Given the description of an element on the screen output the (x, y) to click on. 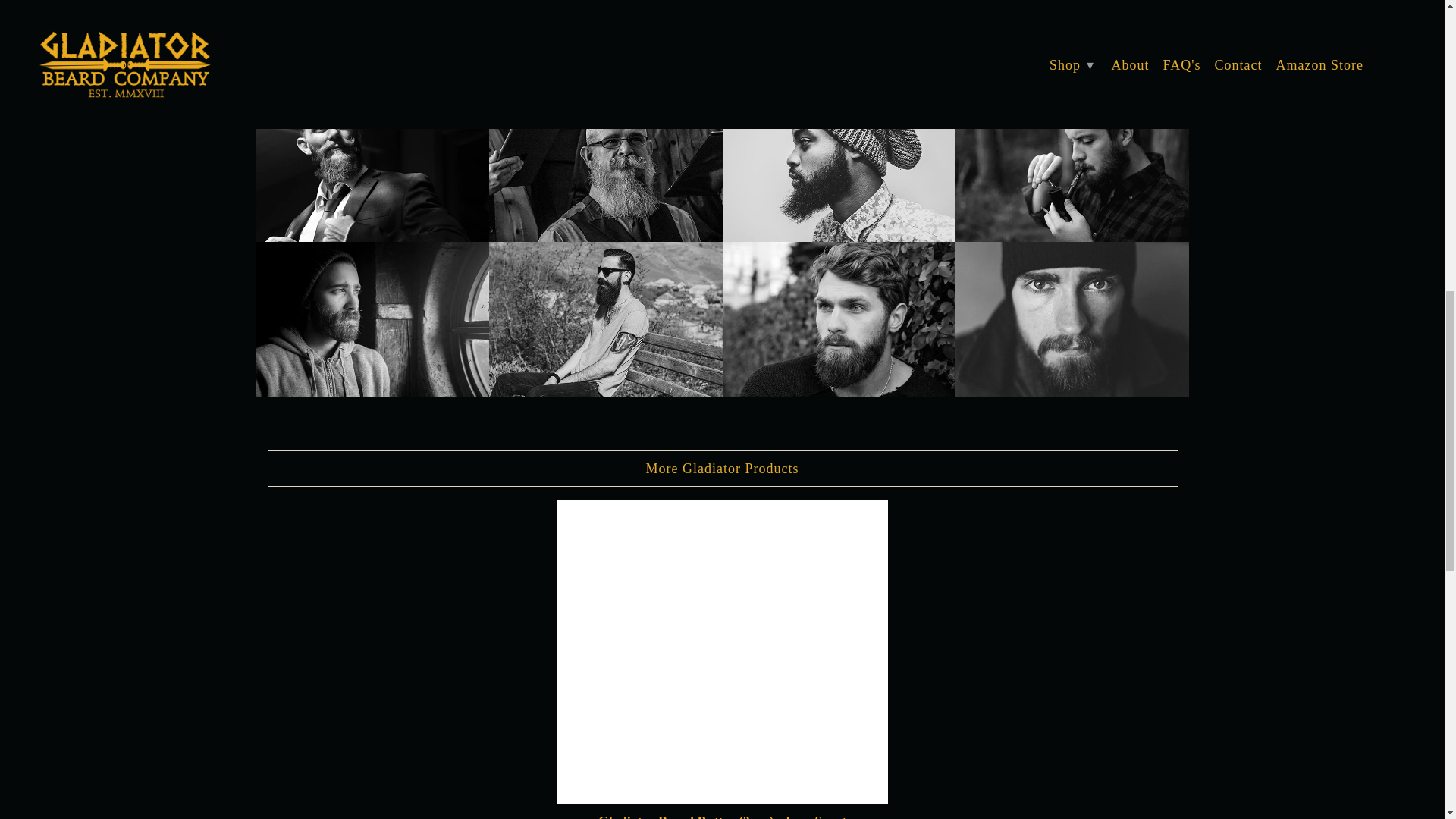
Email this to a friend (932, 47)
Share this on Facebook (852, 47)
Share this on Twitter (824, 47)
Share this on Pinterest (879, 47)
